Given the description of an element on the screen output the (x, y) to click on. 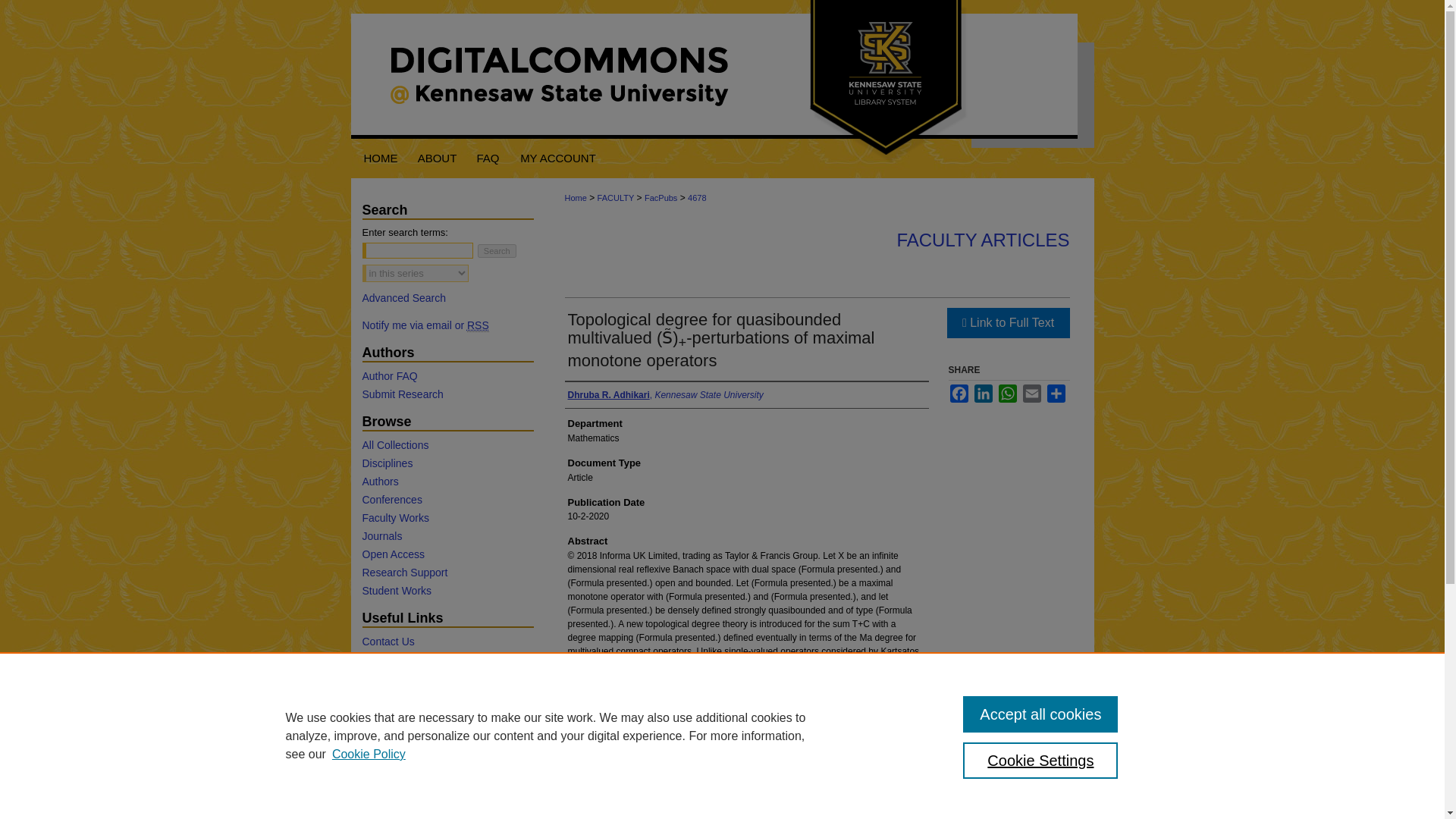
Home (575, 197)
Research Support (447, 572)
Browse by Disciplines (447, 463)
Author FAQ (447, 376)
Notify me via email or RSS (447, 325)
Disciplines (447, 463)
Home (378, 158)
Link to Full Text (1007, 322)
FACULTY (615, 197)
Email or RSS Notifications (447, 325)
FAQ (488, 158)
MY ACCOUNT (558, 158)
My Account (558, 158)
Submit Research (447, 394)
Link opens in new window (1007, 322)
